Given the description of an element on the screen output the (x, y) to click on. 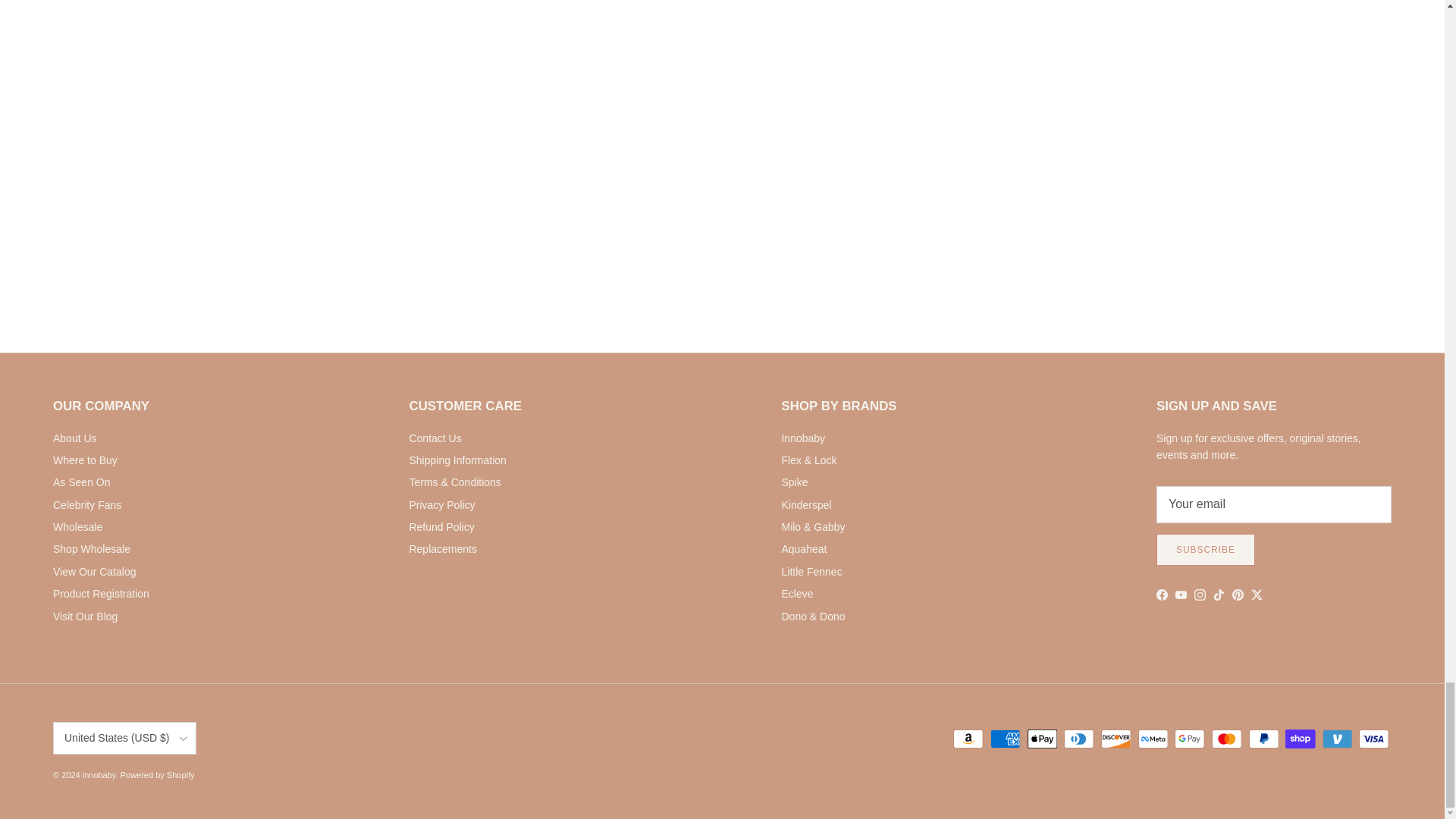
innobaby on TikTok (1218, 594)
innobaby on Twitter (1256, 594)
innobaby on Instagram (1199, 594)
innobaby on YouTube (1180, 594)
innobaby on Facebook (1161, 594)
innobaby on Pinterest (1237, 594)
